Given the description of an element on the screen output the (x, y) to click on. 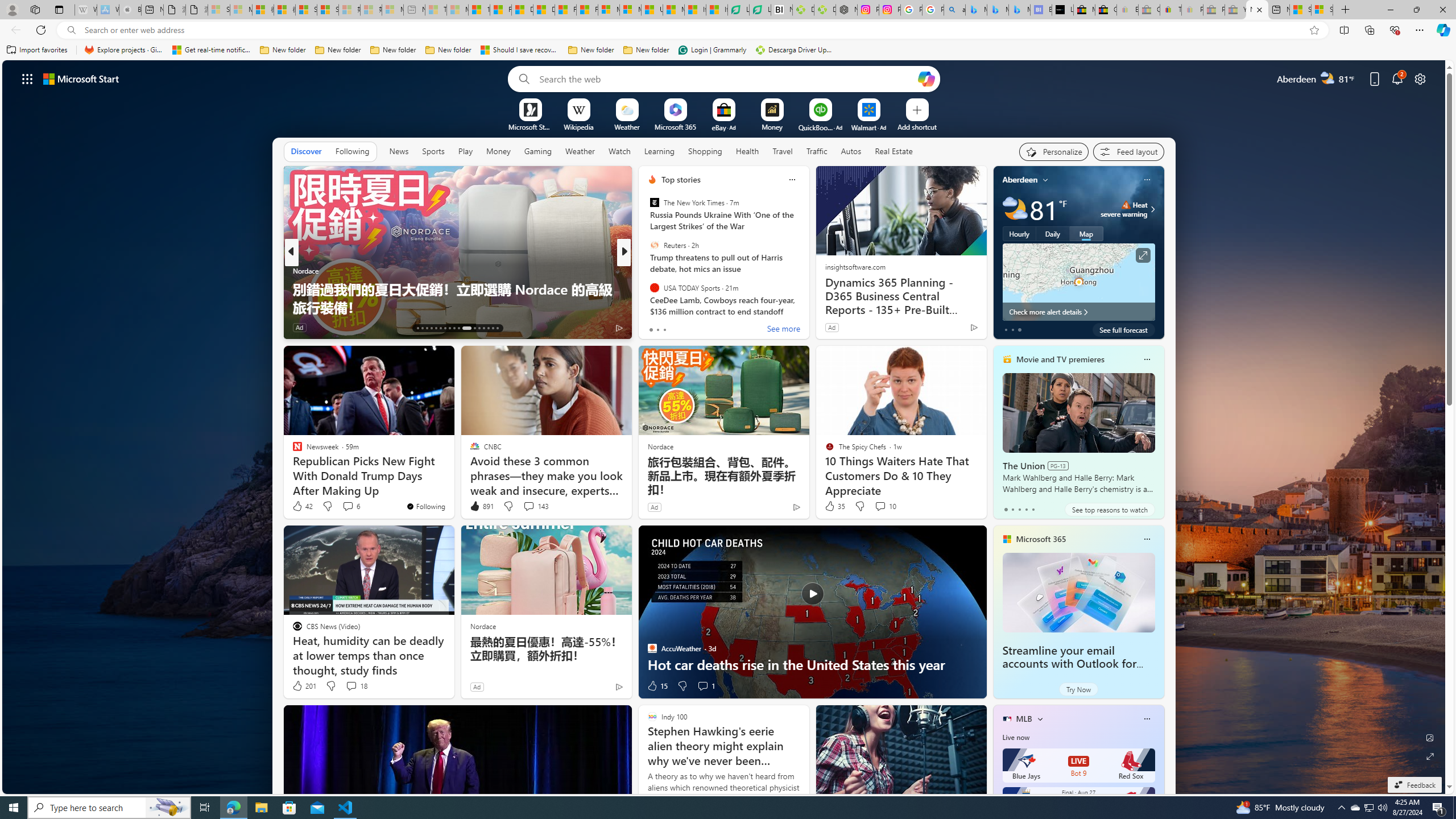
View comments 7 Comment (698, 327)
Microsoft Bing Travel - Shangri-La Hotel Bangkok (1019, 9)
Health (746, 151)
13 Tips to Get a Raise (807, 307)
Microsoft Bing Travel - Flights from Hong Kong to Bangkok (975, 9)
Real Estate (893, 151)
New folder (646, 49)
Shopping (705, 151)
421 Like (654, 327)
